Given the description of an element on the screen output the (x, y) to click on. 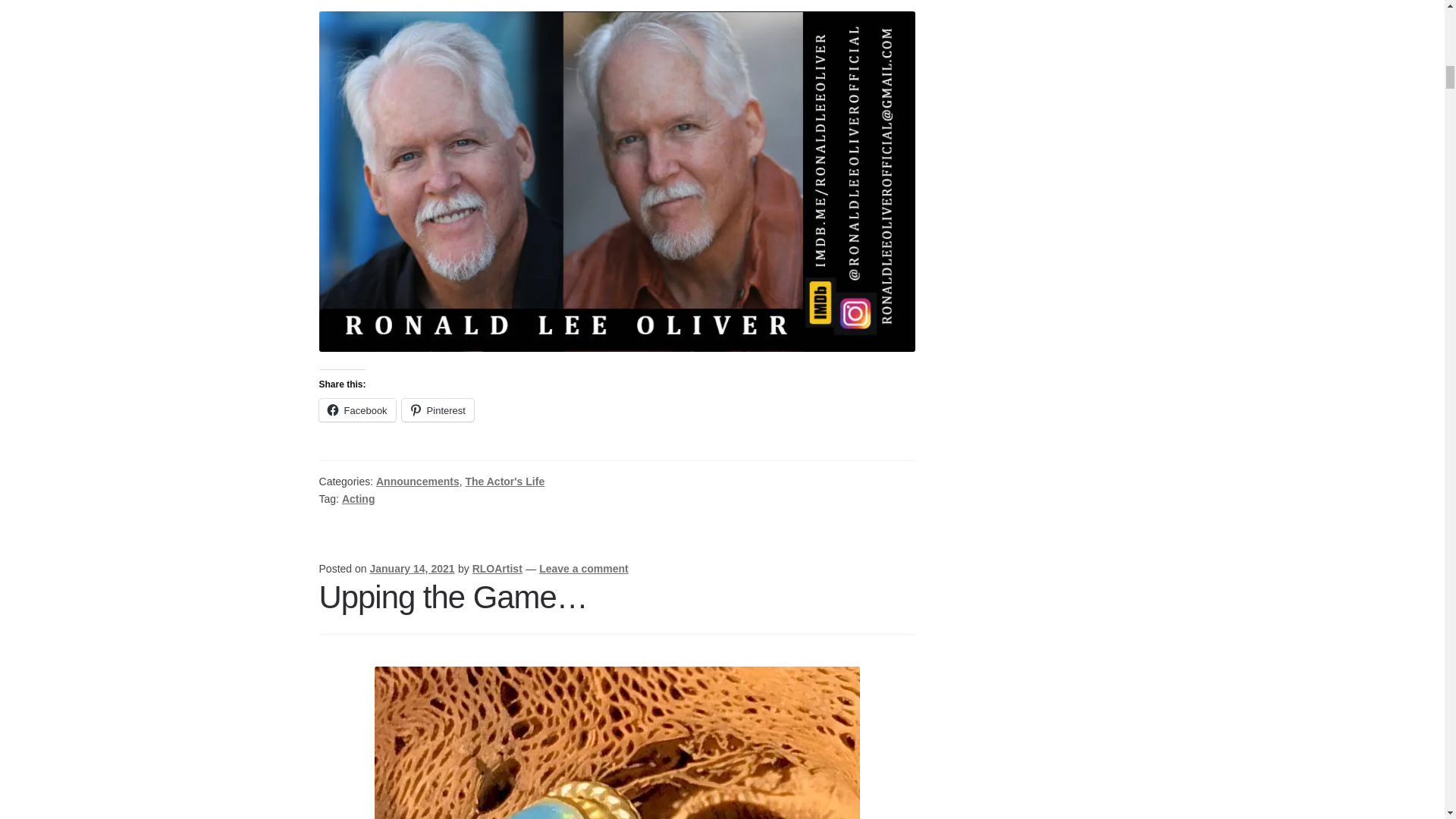
Click to share on Pinterest (437, 409)
Click to share on Facebook (357, 409)
